Given the description of an element on the screen output the (x, y) to click on. 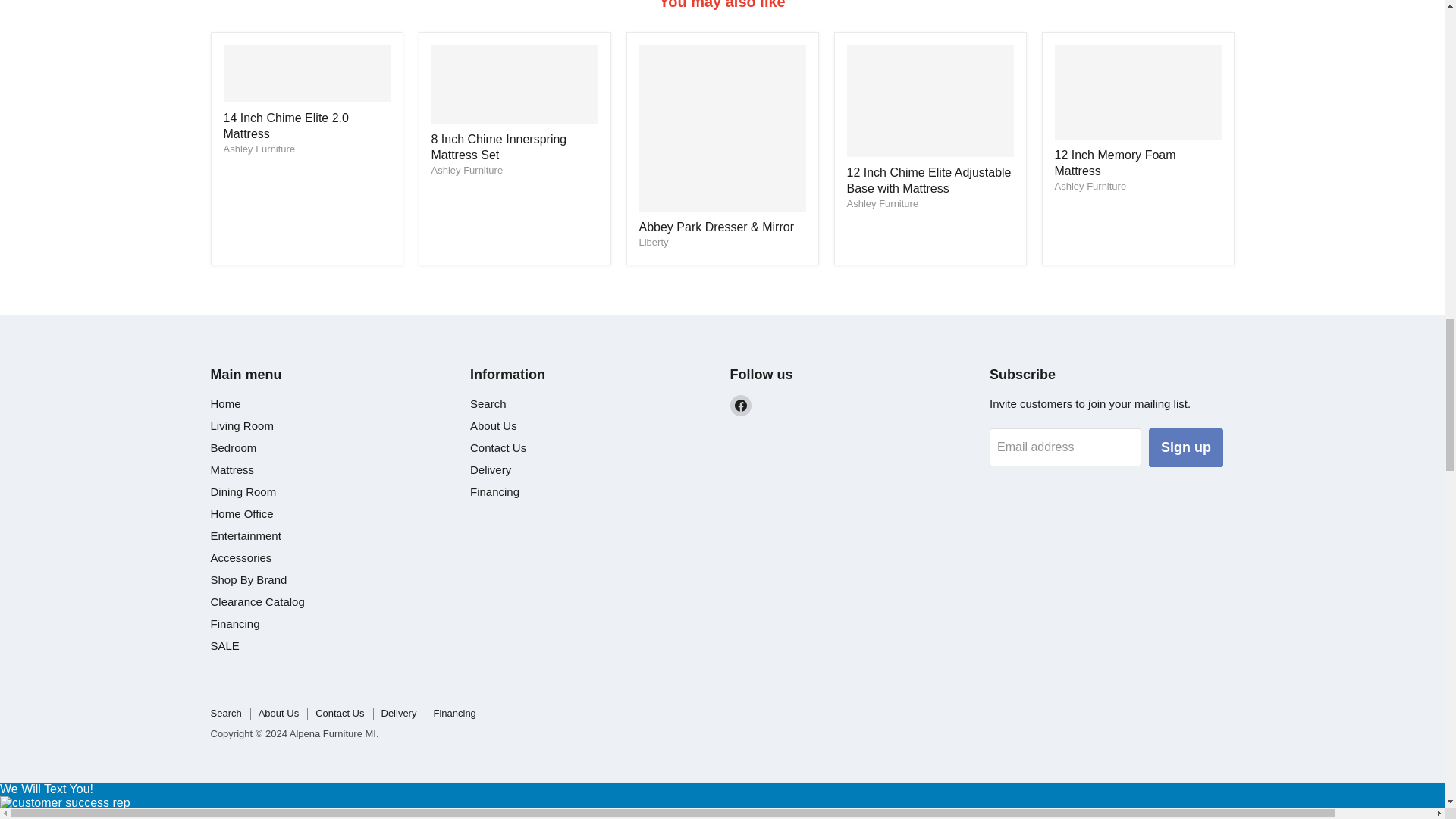
Facebook (740, 405)
Ashley Furniture (881, 203)
Ashley Furniture (258, 148)
Ashley Furniture (1089, 185)
Ashley Furniture (466, 170)
Liberty (653, 242)
